Given the description of an element on the screen output the (x, y) to click on. 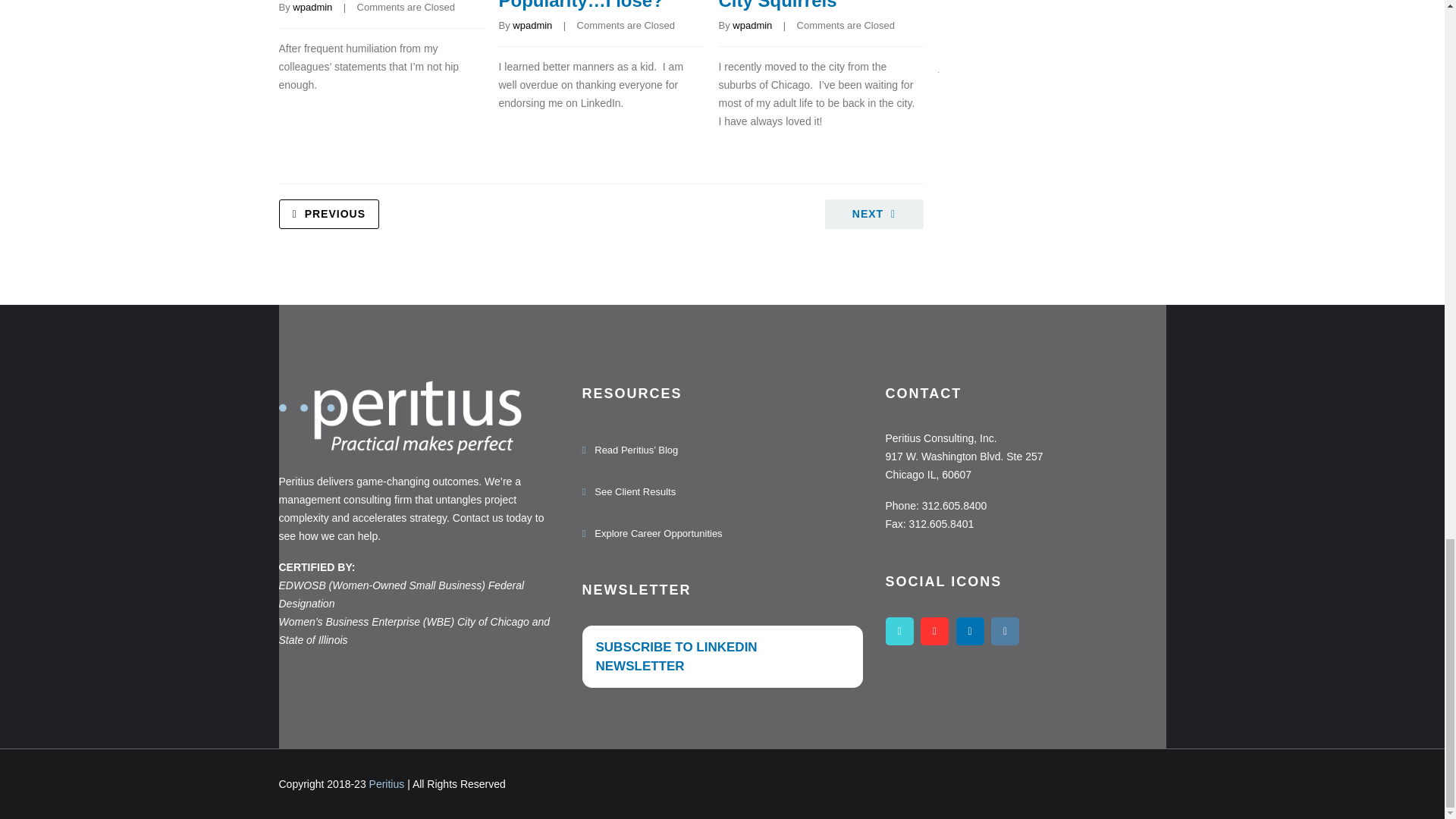
wpadmin (751, 25)
Posts by wpadmin (531, 25)
wpadmin (531, 25)
Posts by wpadmin (751, 25)
wpadmin (311, 7)
Posts by wpadmin (311, 7)
